Given the description of an element on the screen output the (x, y) to click on. 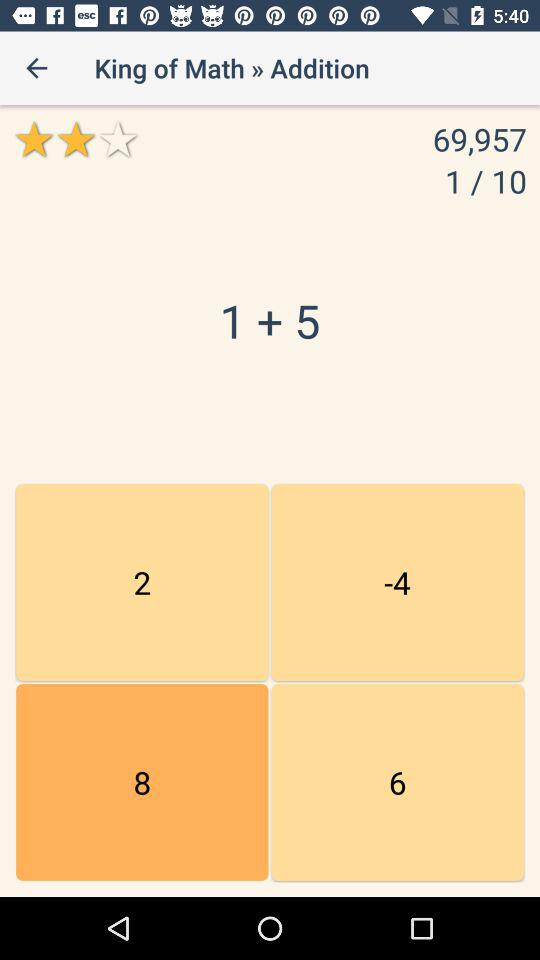
select the number 2 (142, 581)
select the unmarked star on the page (117, 139)
click on the second star symbol which is at top left corner (76, 139)
